Given the description of an element on the screen output the (x, y) to click on. 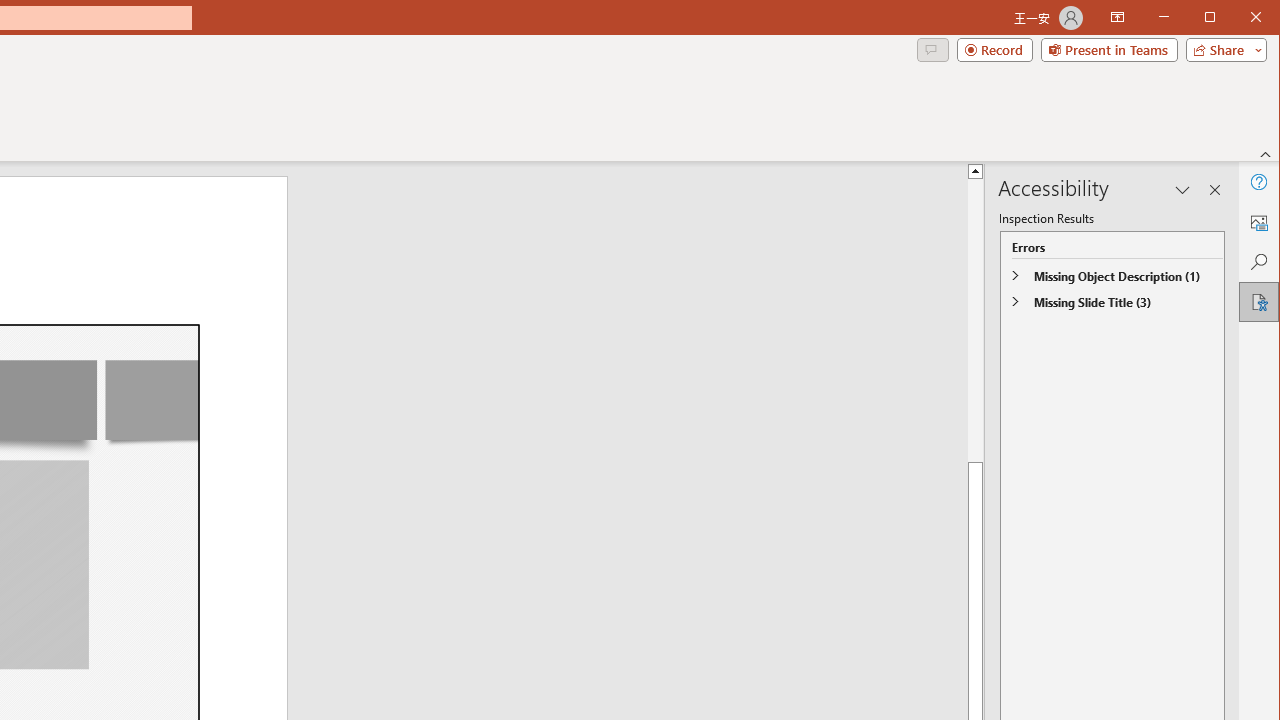
Page up (1230, 320)
Search (1258, 261)
Line up (1230, 170)
Maximize (1238, 18)
